Given the description of an element on the screen output the (x, y) to click on. 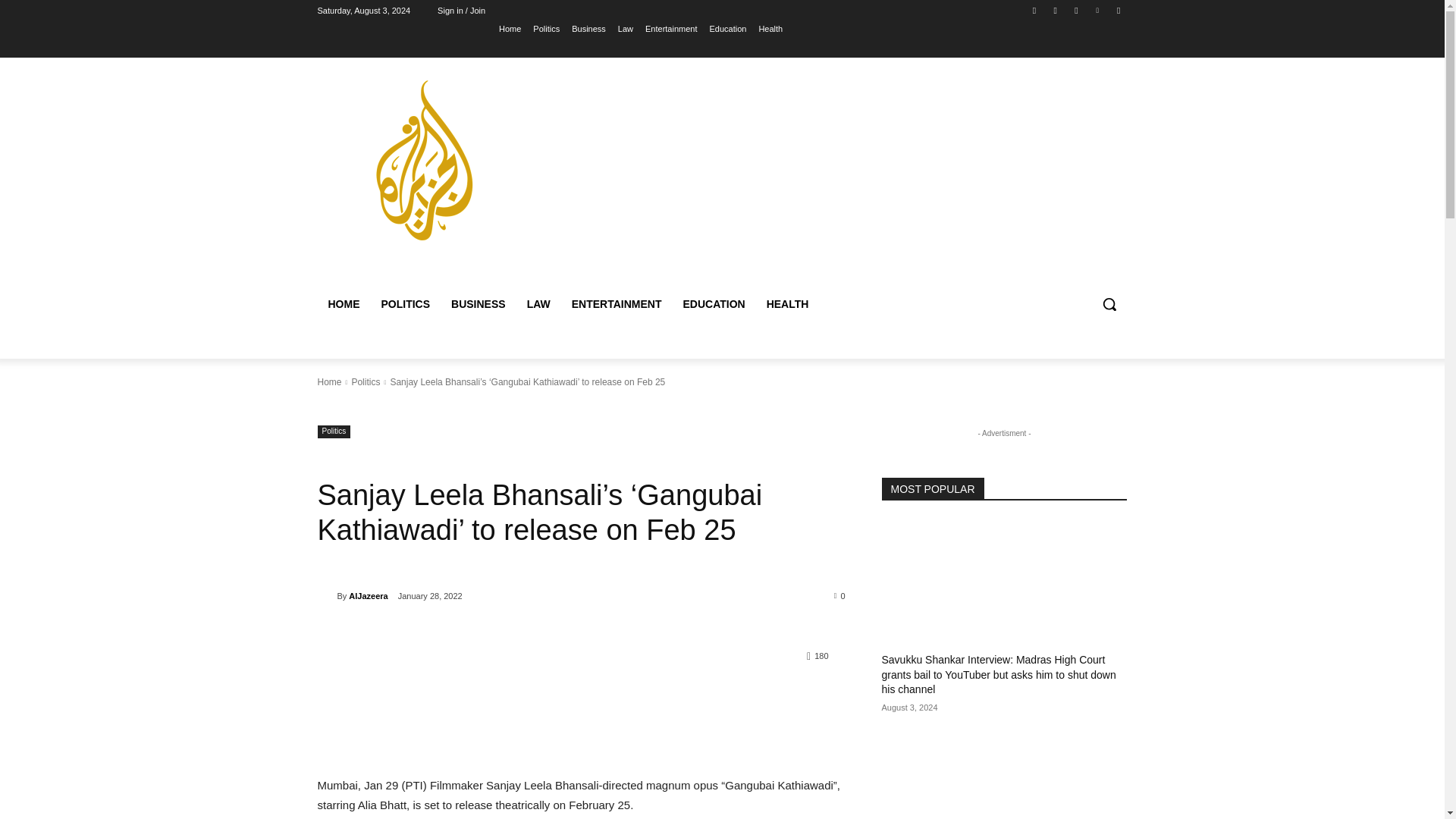
Instagram (1055, 9)
View all posts in Politics (365, 381)
Politics (365, 381)
Education (727, 28)
Youtube (1117, 9)
Entertainment (671, 28)
AlJazeera (326, 595)
EDUCATION (713, 303)
Business (588, 28)
Twitter (1075, 9)
HOME (343, 303)
POLITICS (405, 303)
0 (839, 594)
Home (328, 381)
AlJazeera (368, 595)
